Given the description of an element on the screen output the (x, y) to click on. 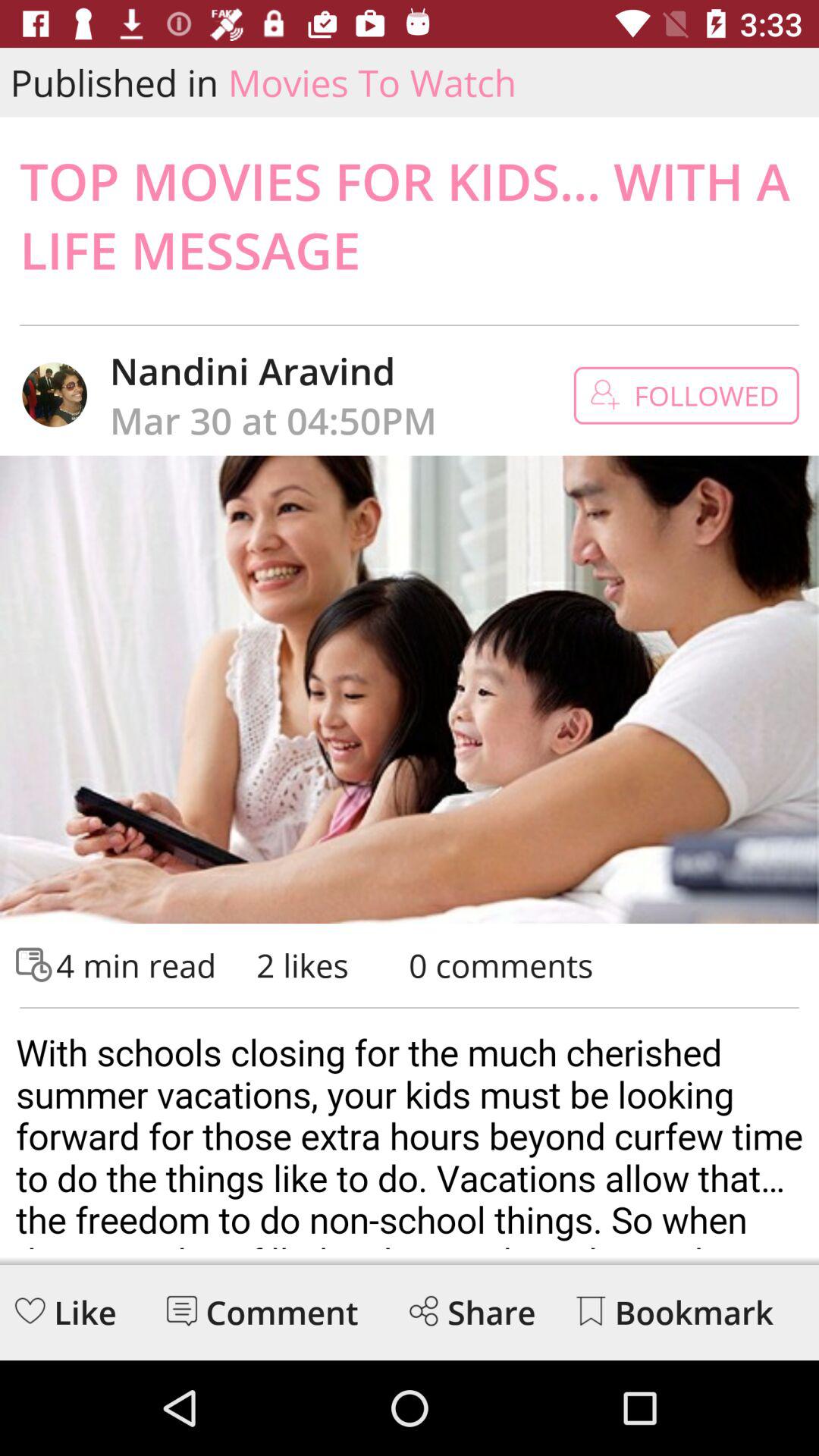
go to comment section (181, 1310)
